Given the description of an element on the screen output the (x, y) to click on. 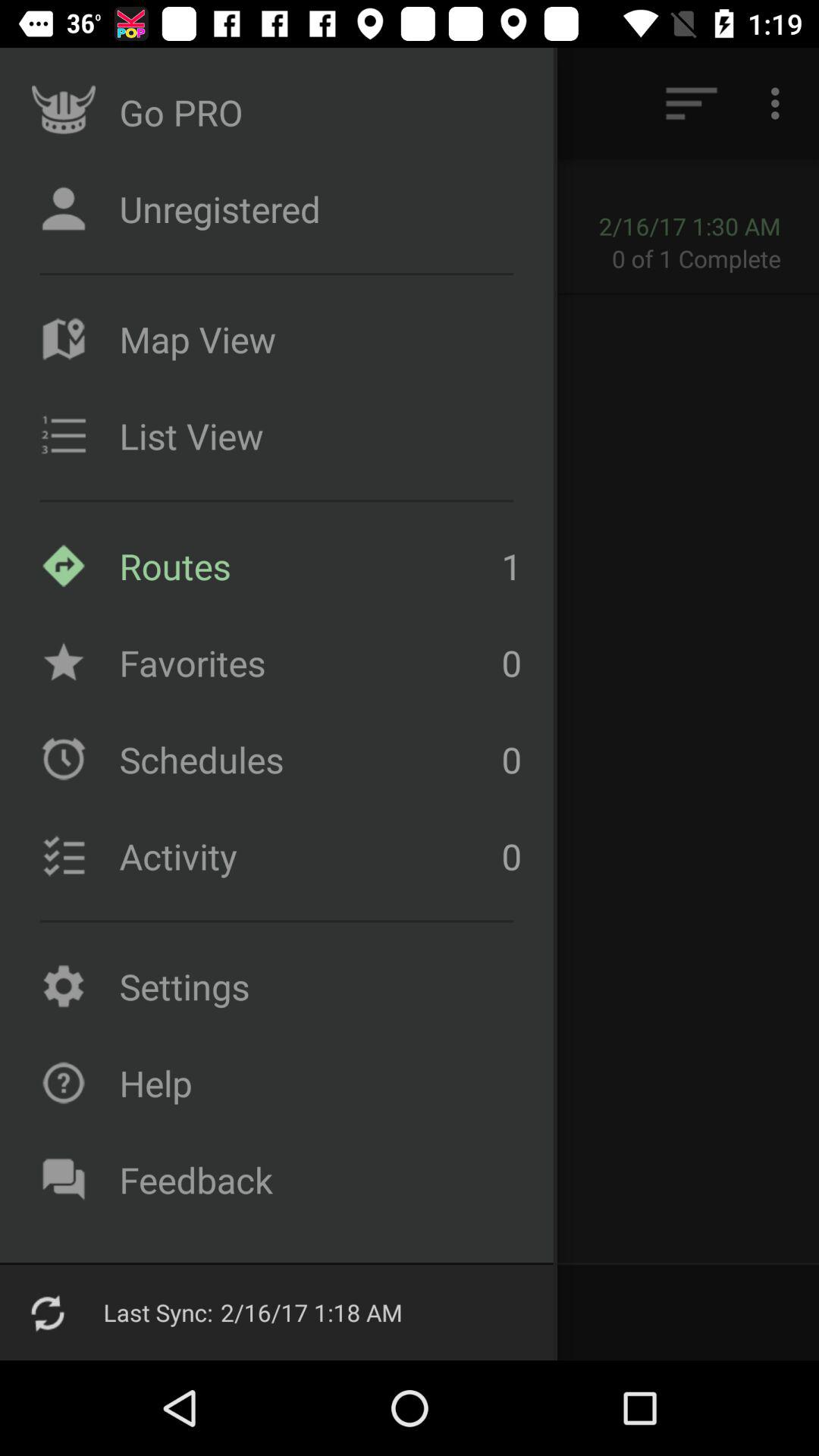
launch the icon above the feedback item (316, 1082)
